Given the description of an element on the screen output the (x, y) to click on. 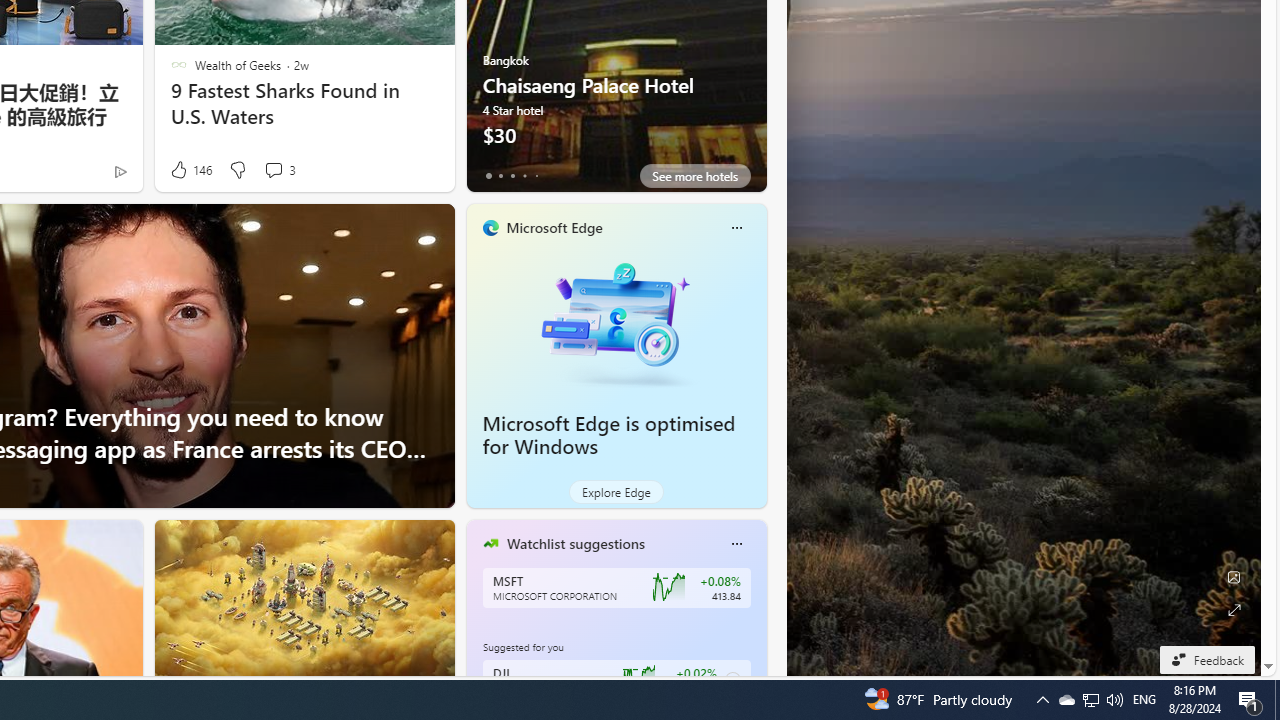
Expand background (1233, 610)
Class: icon-img (736, 543)
146 Like (190, 170)
tab-3 (524, 175)
tab-1 (500, 175)
tab-4 (535, 175)
Microsoft Edge (553, 227)
Watchlist suggestions (575, 543)
See more hotels (694, 175)
Dislike (237, 170)
Feedback (1206, 659)
Class: follow-button  m (732, 679)
Edit Background (1233, 577)
